Given the description of an element on the screen output the (x, y) to click on. 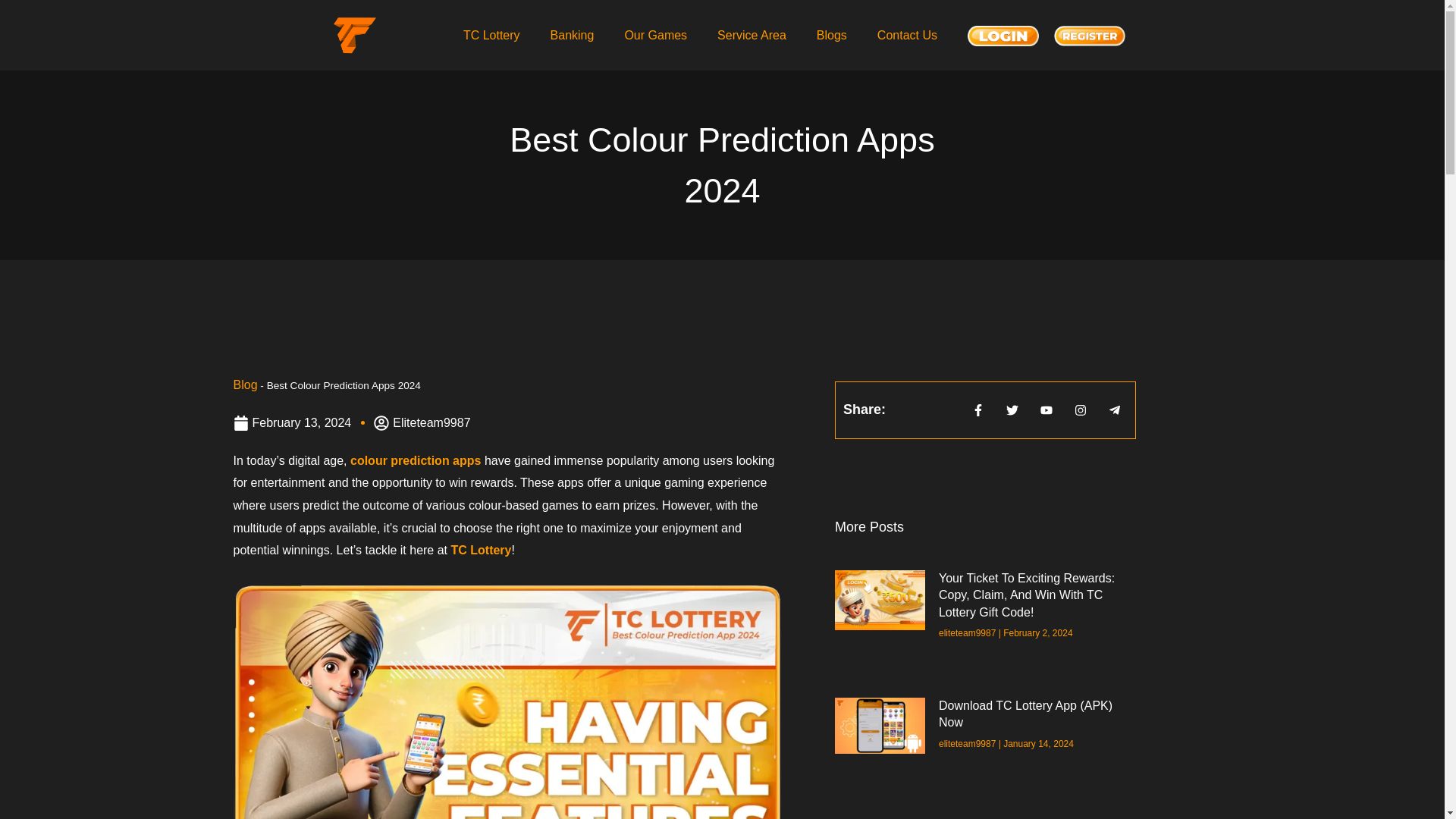
February 13, 2024 (292, 422)
Service Area (751, 35)
Banking (572, 35)
TC Lottery (491, 35)
Our Games (654, 35)
Blogs (831, 35)
Blog (244, 384)
Contact Us (906, 35)
